Given the description of an element on the screen output the (x, y) to click on. 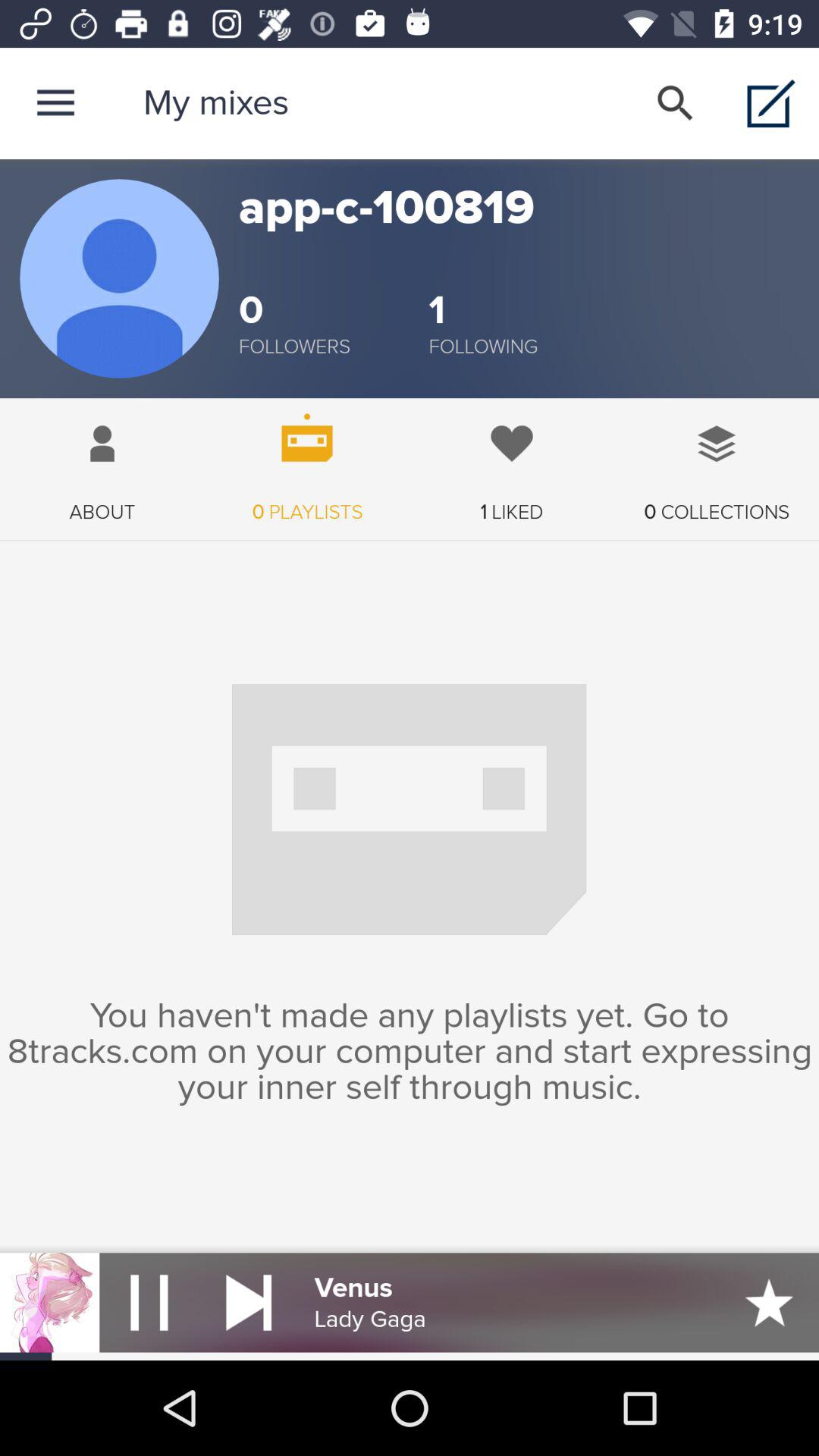
launch the icon next to my mixes icon (55, 103)
